Given the description of an element on the screen output the (x, y) to click on. 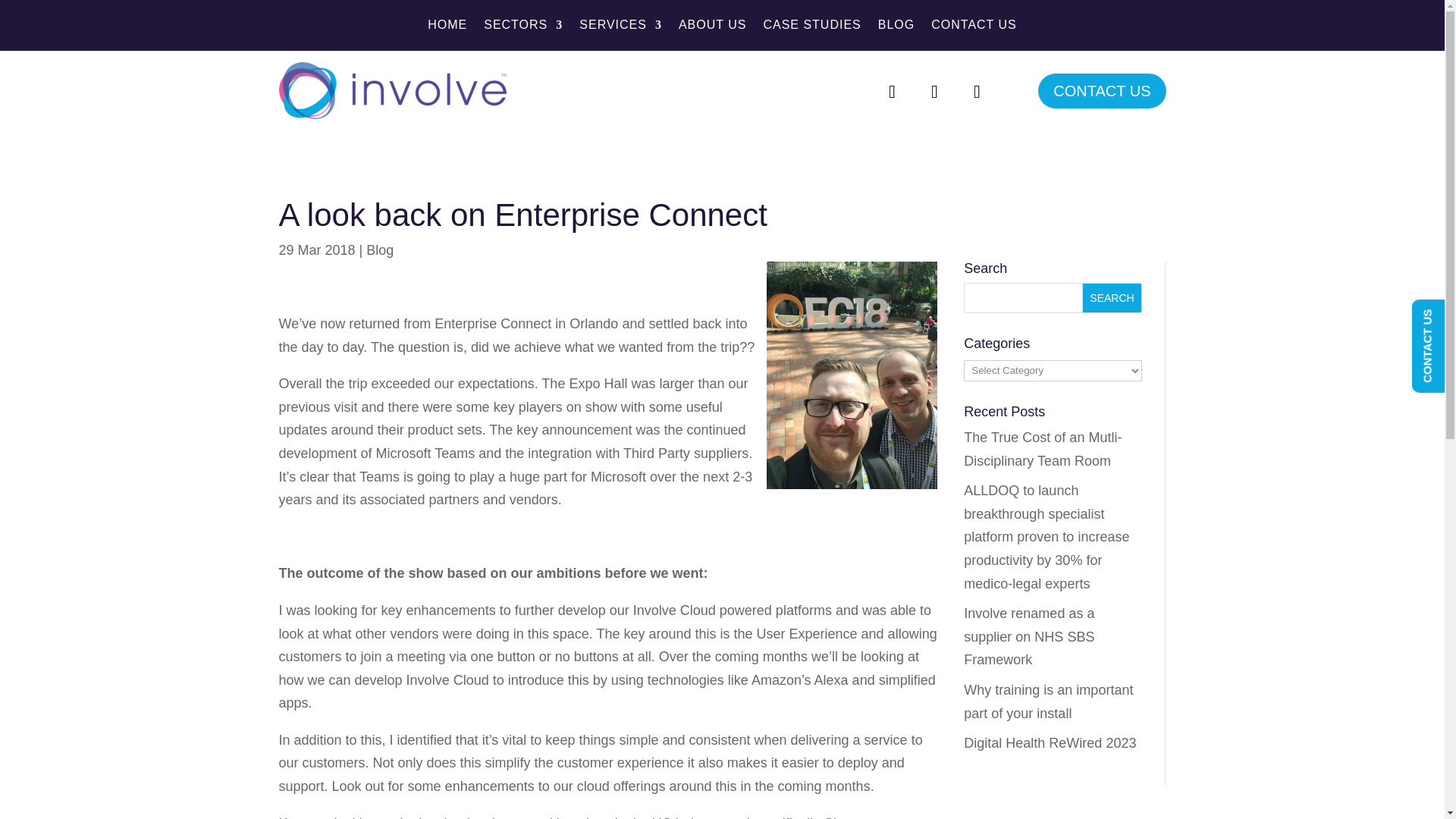
SECTORS (522, 28)
Search (1111, 297)
Follow on LinkedIn (976, 91)
Follow on Facebook (891, 91)
Involve (392, 90)
Follow on X (933, 91)
HOME (447, 28)
